Given the description of an element on the screen output the (x, y) to click on. 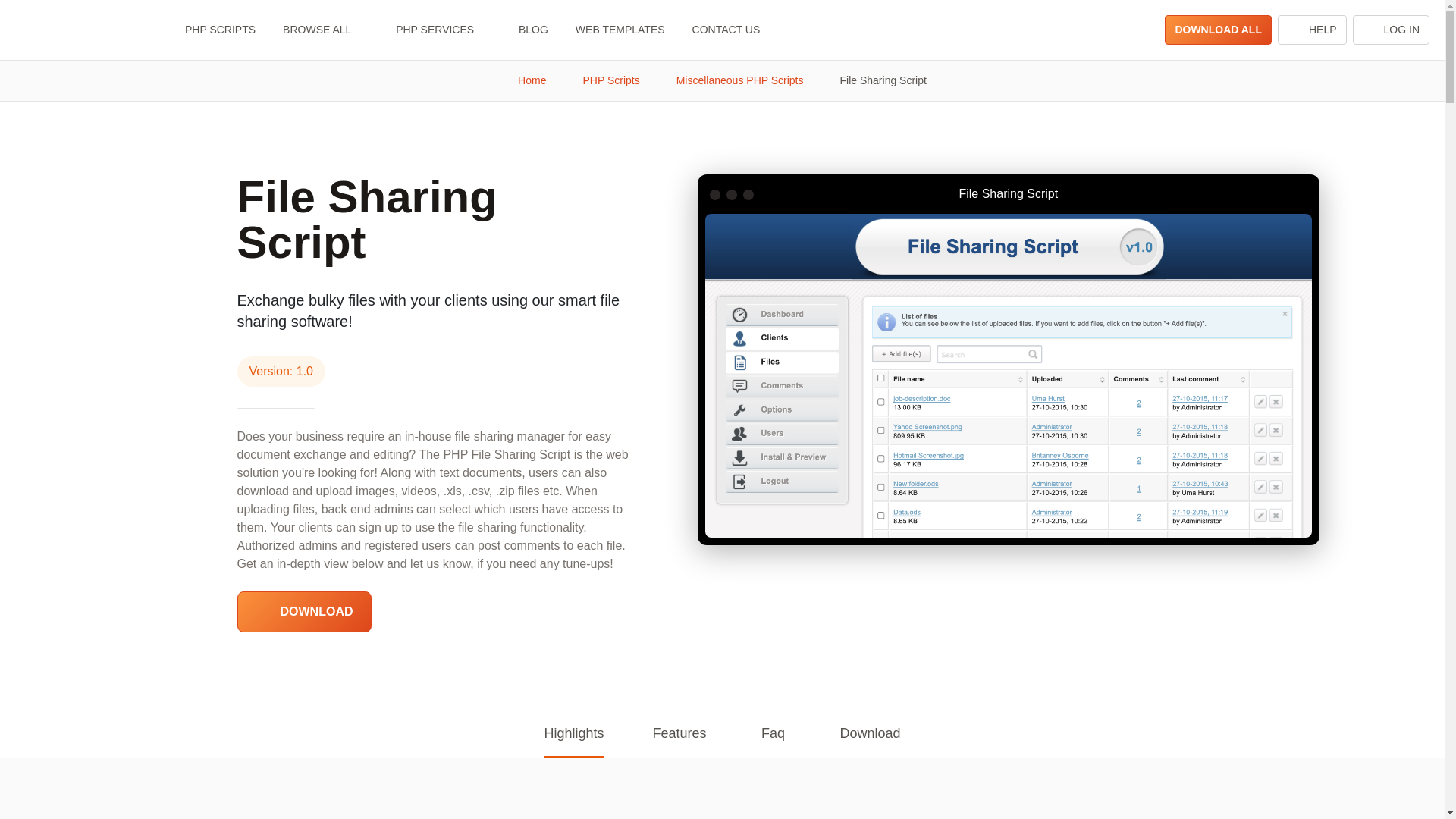
DOWNLOAD ALL (1217, 30)
HELP (1312, 30)
LOG IN (1390, 30)
PHPJabbers (80, 30)
